Given the description of an element on the screen output the (x, y) to click on. 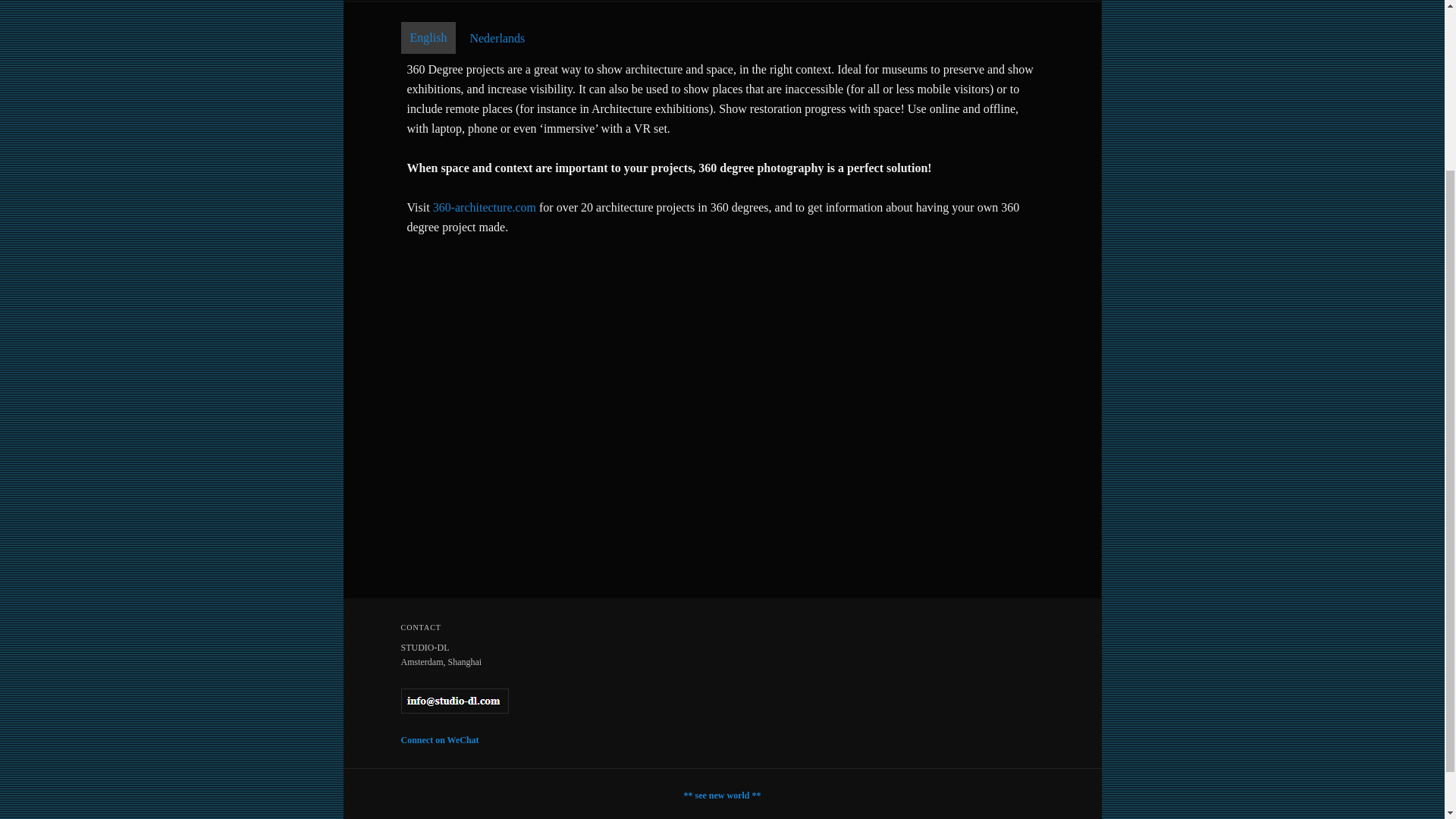
Nederlands (497, 38)
English (427, 38)
Connect on WeChat (439, 739)
360-architecture.com (483, 206)
